Given the description of an element on the screen output the (x, y) to click on. 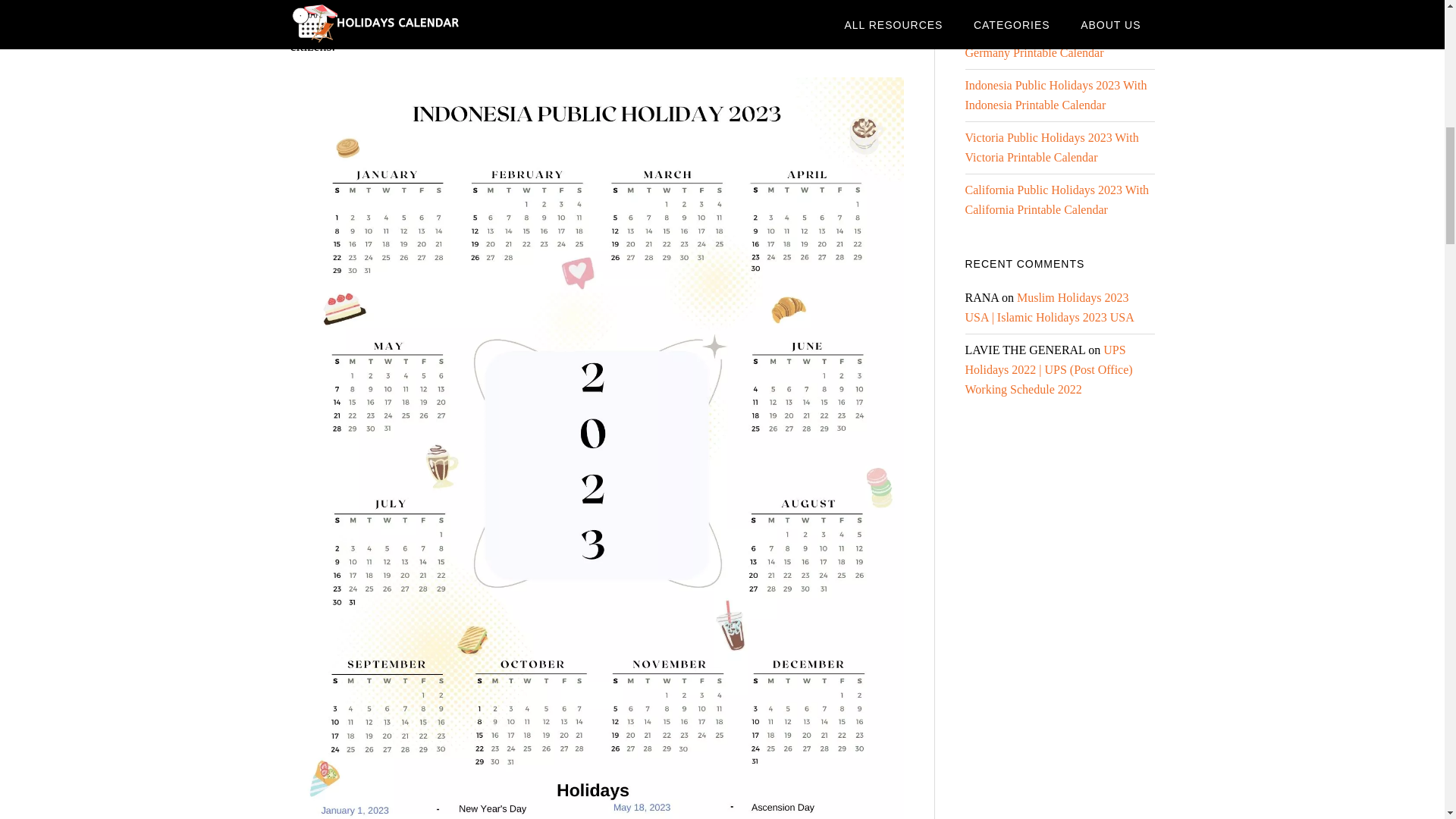
Germany Public Holidays 2023 with Germany Printable Calendar (1052, 42)
Seasonal Holidays 2024 with Year Calendar in PDF (1047, 3)
